Given the description of an element on the screen output the (x, y) to click on. 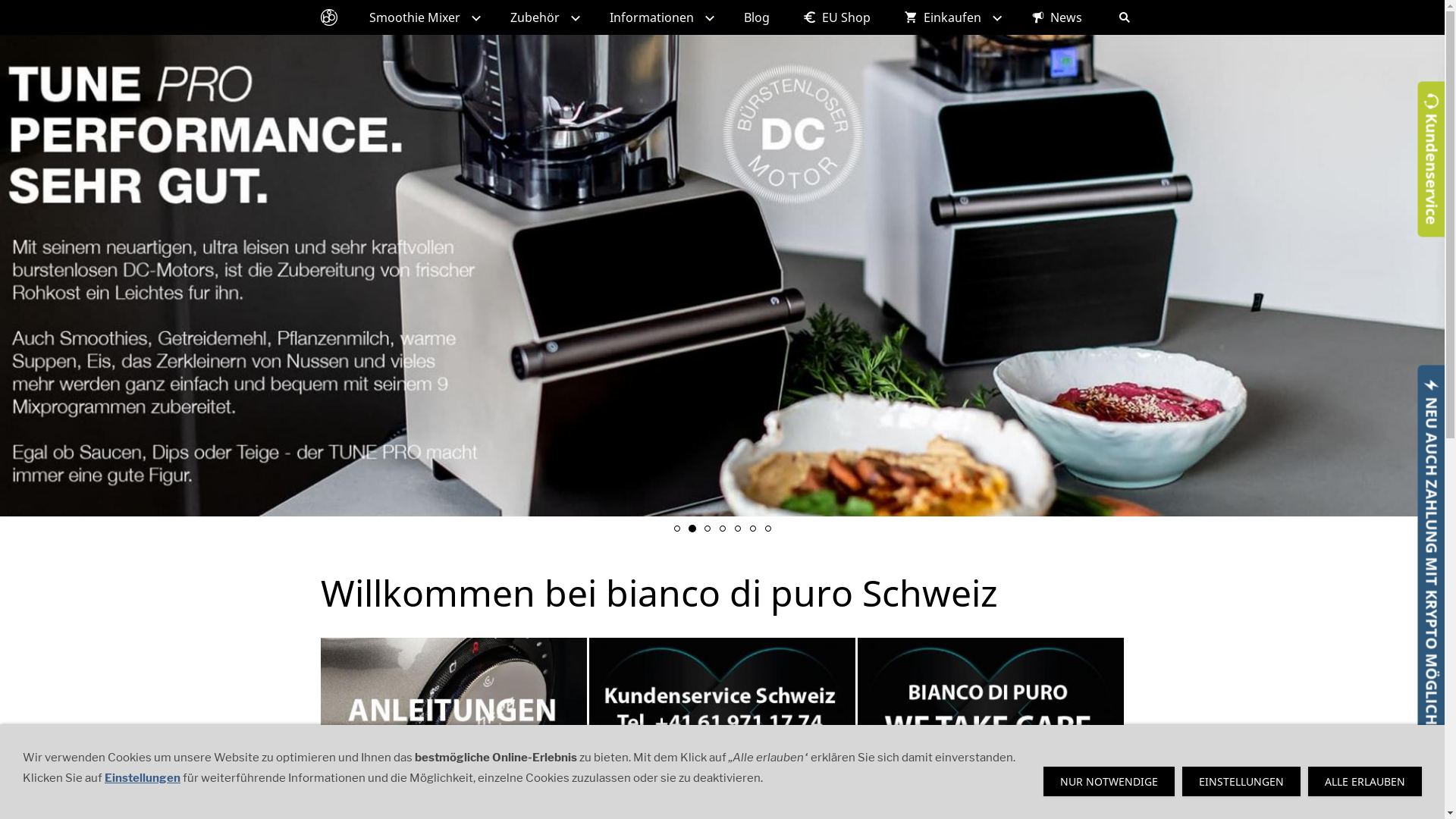
News Element type: text (1056, 17)
Informationen Element type: text (660, 17)
Blog Element type: text (755, 17)
NUR NOTWENDIGE Element type: text (1108, 781)
Einkaufen Element type: text (950, 17)
EINSTELLUNGEN Element type: text (1241, 781)
ALLE ERLAUBEN Element type: text (1364, 781)
Einstellungen Element type: text (142, 777)
EU Shop Element type: text (836, 17)
Smoothie Mixer Element type: text (421, 17)
